Given the description of an element on the screen output the (x, y) to click on. 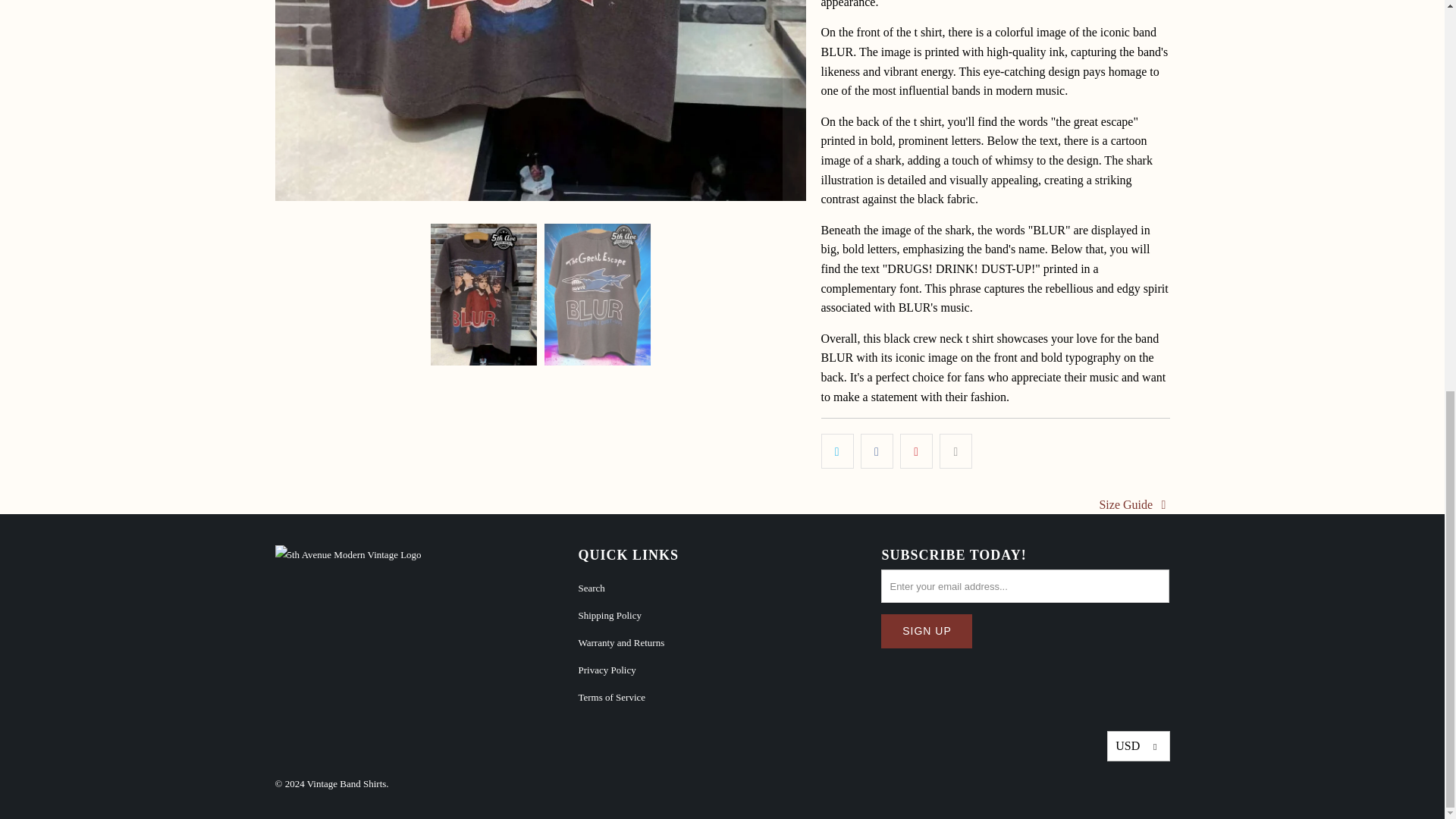
Share this on Twitter (837, 451)
Email this to a friend (955, 451)
Share this on Facebook (876, 451)
Sign Up (926, 631)
Share this on Pinterest (916, 451)
